Given the description of an element on the screen output the (x, y) to click on. 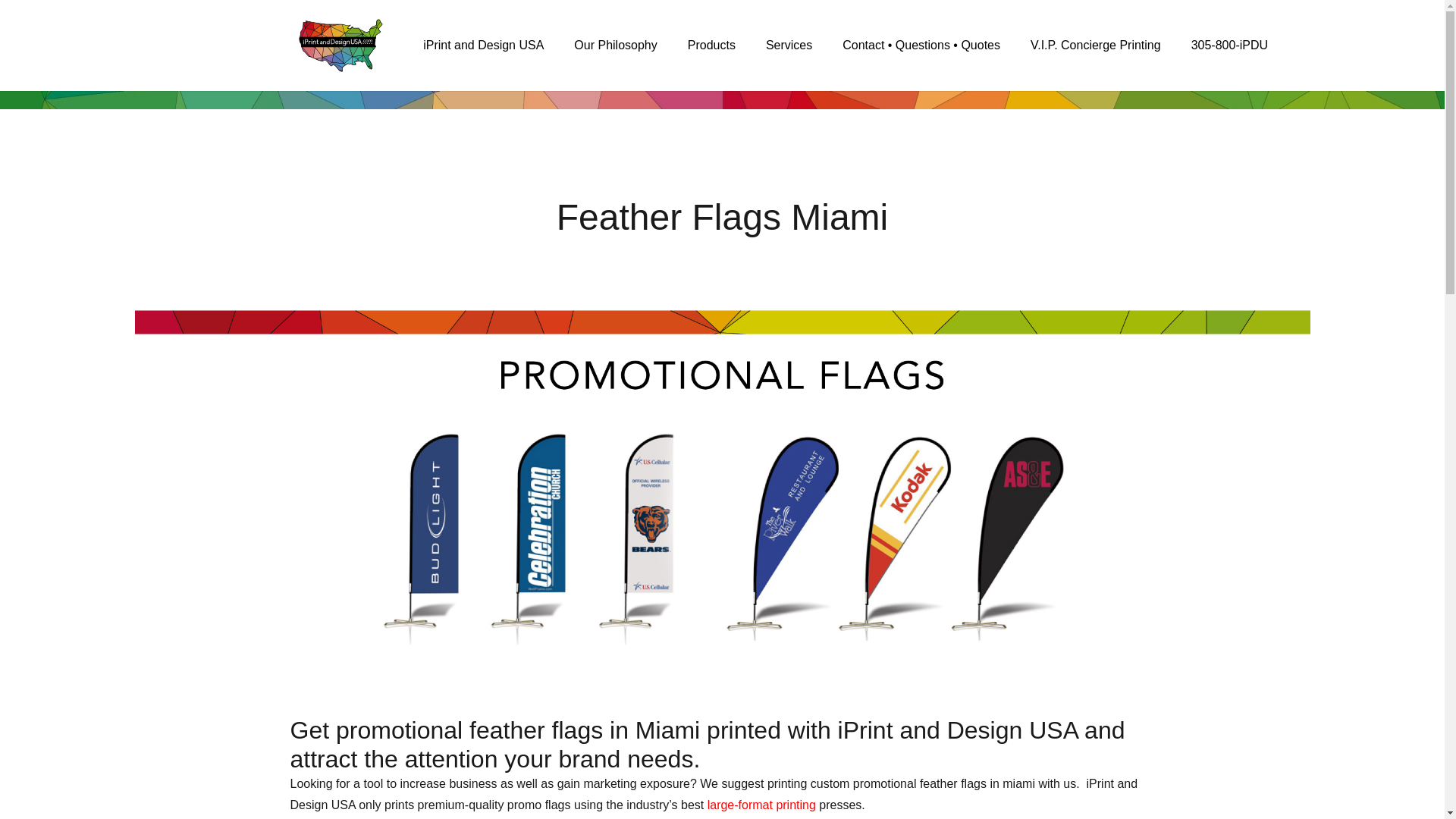
large-format printing (761, 804)
iPrint and Design USA (483, 45)
305-800-iPDU (1229, 45)
V.I.P. Concierge Printing (1095, 45)
Our Philosophy (615, 45)
